Given the description of an element on the screen output the (x, y) to click on. 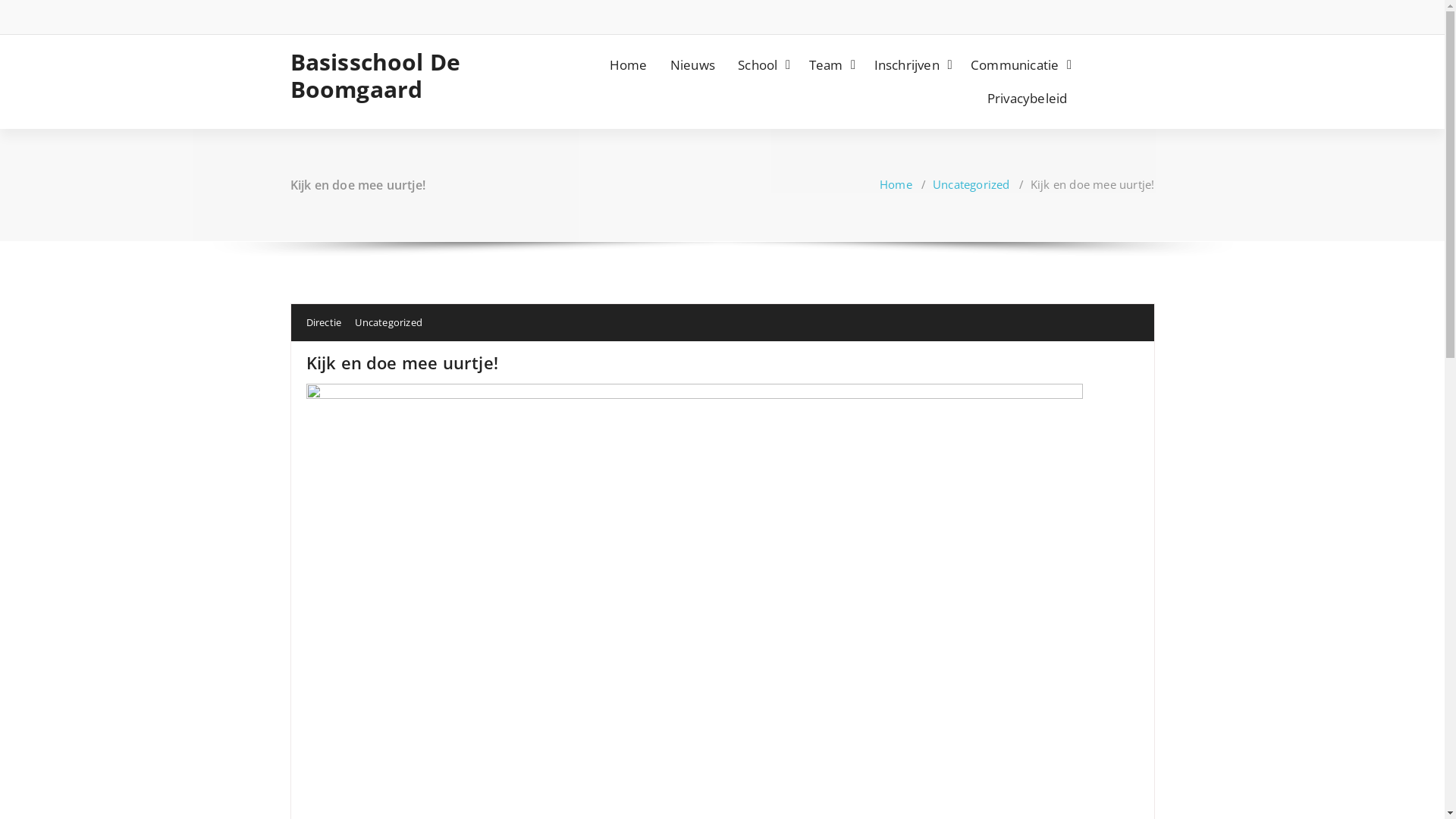
Home Element type: text (895, 183)
Privacybeleid Element type: text (1027, 98)
Inschrijven Element type: text (910, 64)
School Element type: text (761, 64)
Home Element type: text (628, 64)
Nieuws Element type: text (692, 64)
Team Element type: text (830, 64)
Directie Element type: text (324, 322)
Uncategorized Element type: text (971, 183)
Uncategorized Element type: text (388, 322)
Basisschool De Boomgaard Element type: text (389, 75)
Communicatie Element type: text (1018, 64)
